Given the description of an element on the screen output the (x, y) to click on. 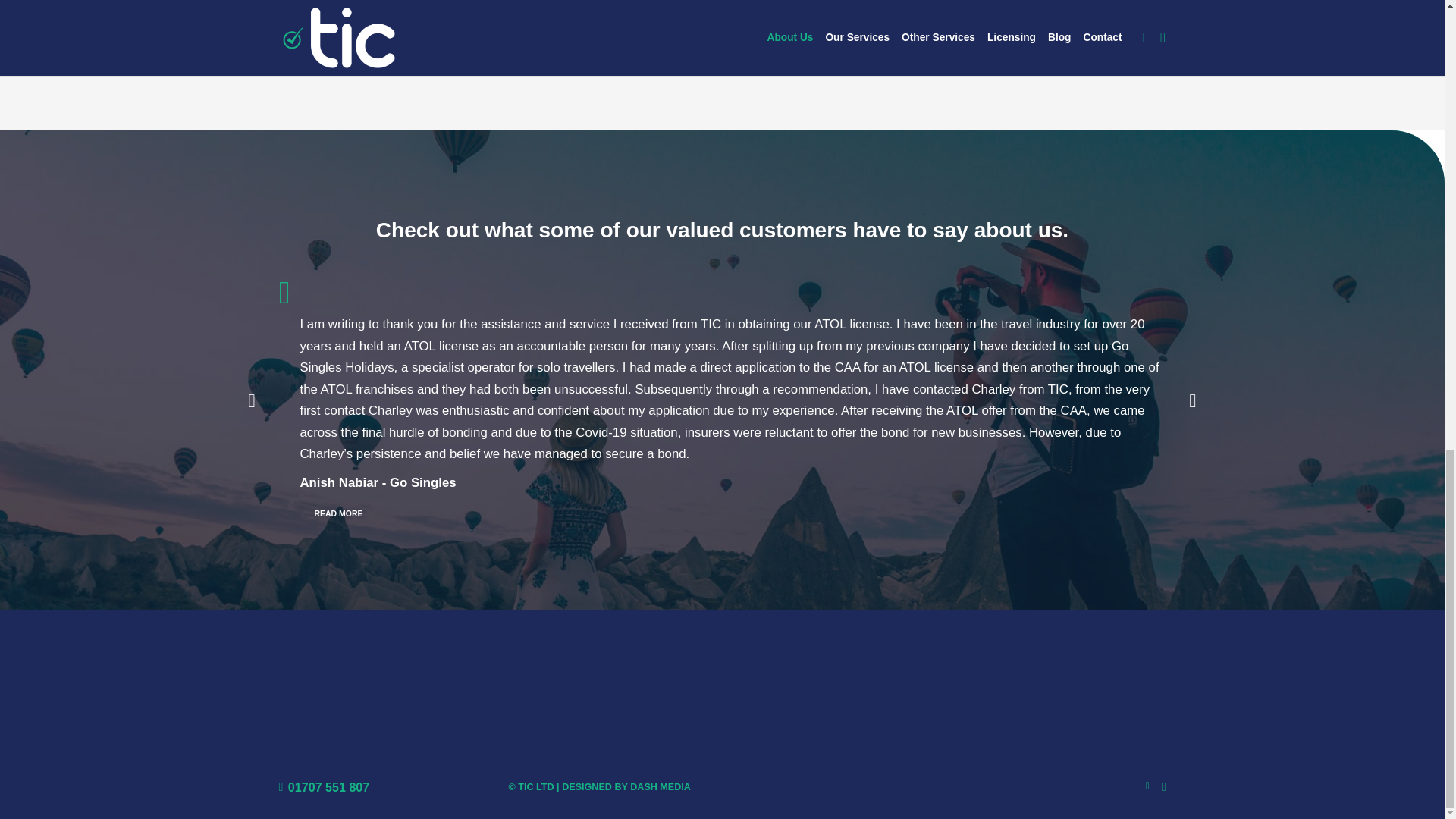
01707 551 807 (324, 786)
READ MORE (338, 513)
Instagram (1163, 786)
DASH MEDIA (660, 787)
Call us now (324, 786)
Twitter (1147, 786)
